Given the description of an element on the screen output the (x, y) to click on. 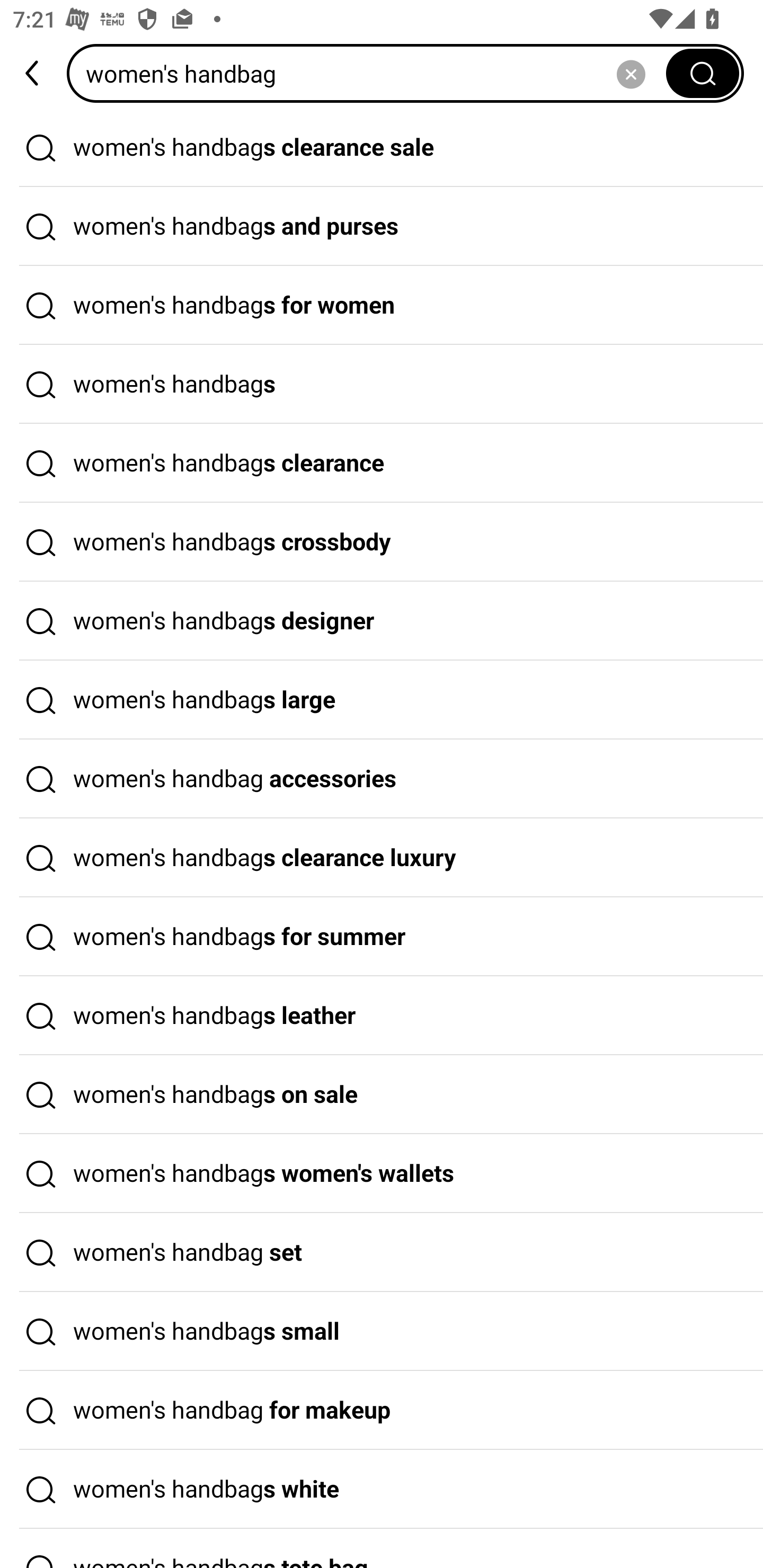
back (33, 72)
women's handbag (372, 73)
Delete search history (630, 73)
women's handbags clearance sale (381, 147)
women's handbags and purses (381, 226)
women's handbags for women (381, 305)
women's handbags (381, 383)
women's handbags clearance (381, 463)
women's handbags crossbody (381, 542)
women's handbags designer (381, 620)
women's handbags large (381, 700)
women's handbag accessories (381, 779)
women's handbags clearance luxury (381, 857)
women's handbags for summer (381, 936)
women's handbags leather (381, 1015)
women's handbags on sale (381, 1094)
women's handbags women's wallets (381, 1173)
women's handbag set (381, 1252)
women's handbags small (381, 1331)
women's handbag for makeup (381, 1410)
women's handbags white (381, 1489)
